Given the description of an element on the screen output the (x, y) to click on. 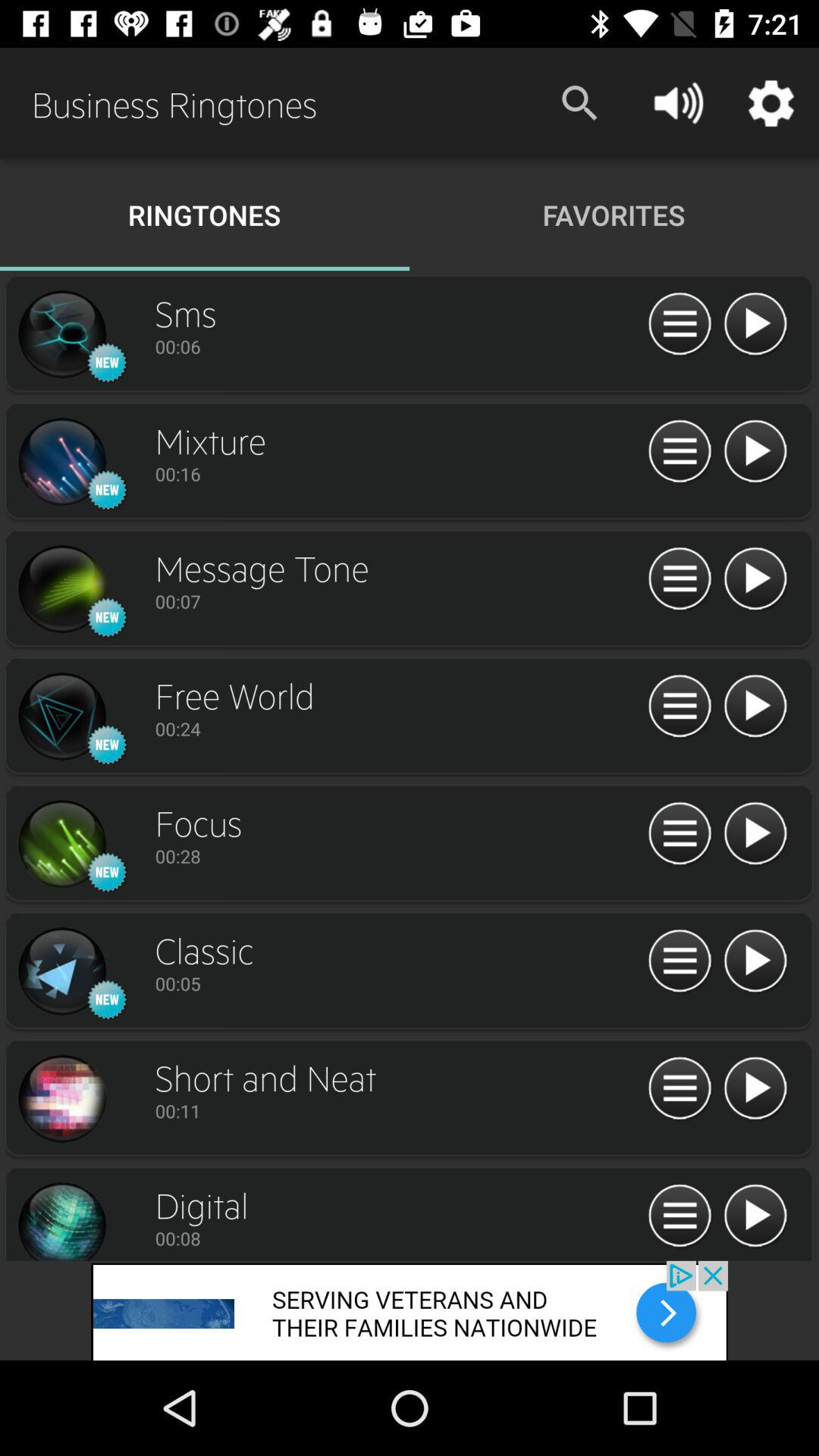
play (755, 324)
